Given the description of an element on the screen output the (x, y) to click on. 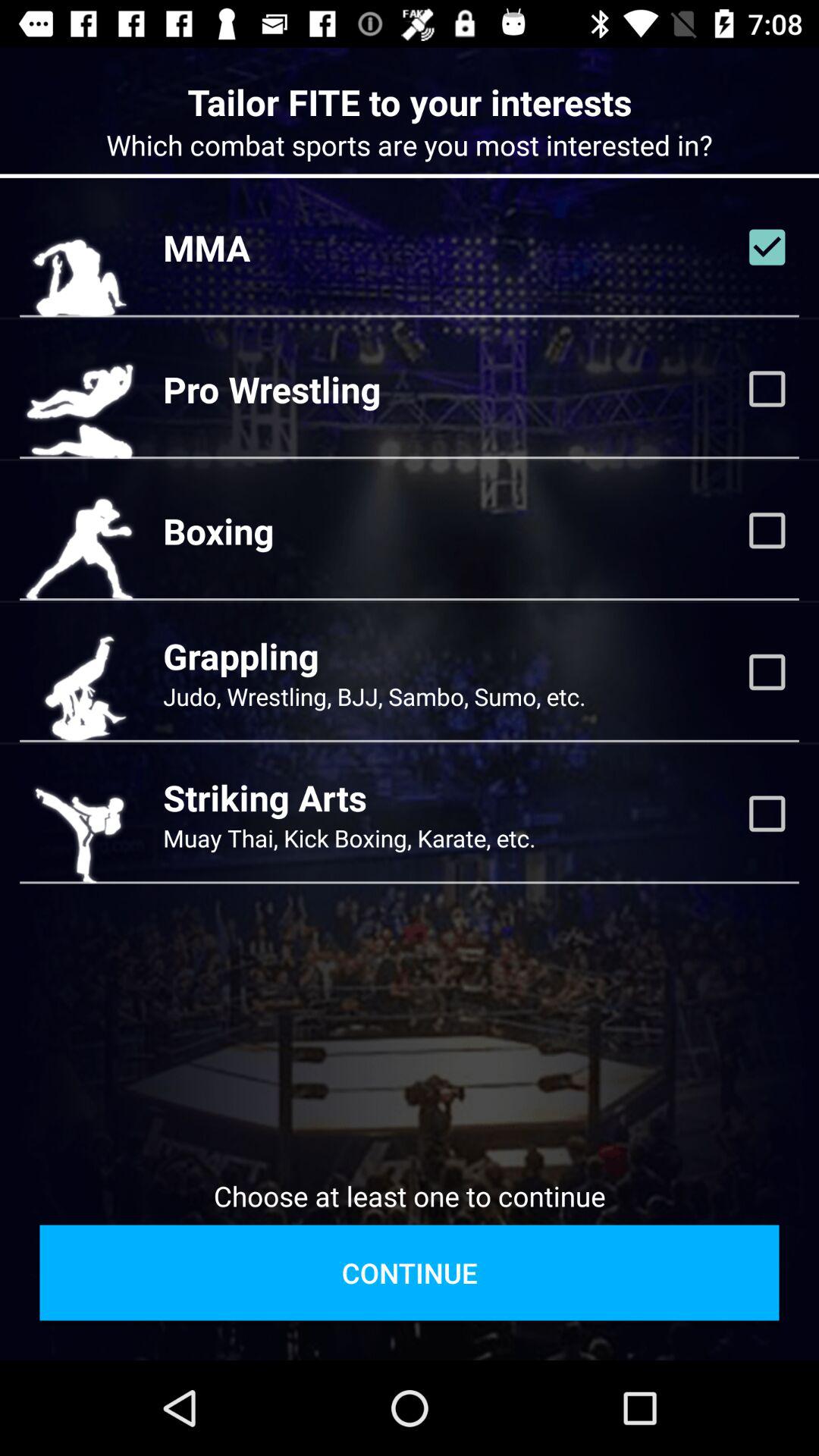
check box to select boxing (767, 530)
